Given the description of an element on the screen output the (x, y) to click on. 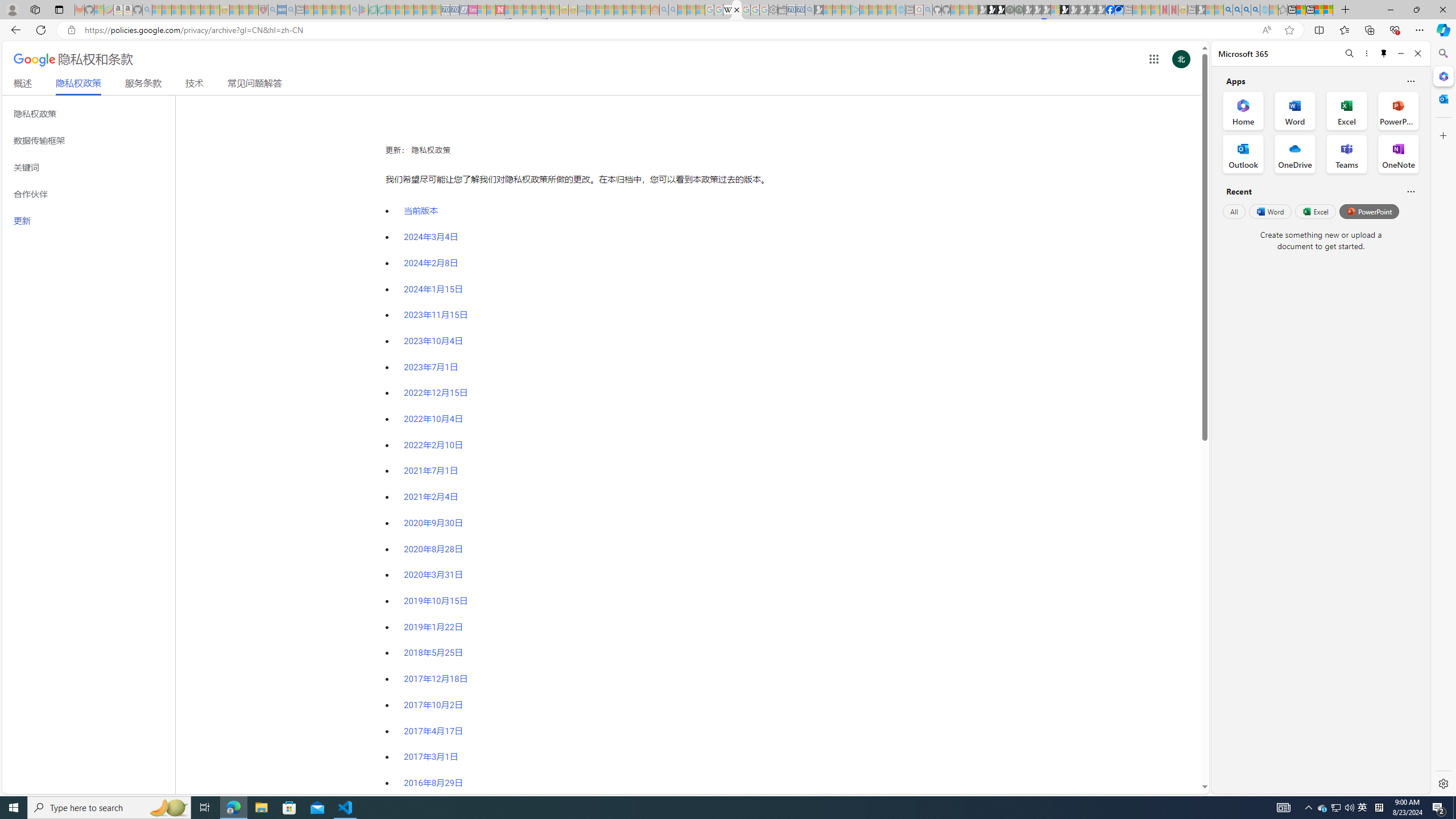
Settings - Sleeping (773, 9)
Aberdeen, Hong Kong SAR weather forecast | Microsoft Weather (1300, 9)
All (1233, 210)
